Given the description of an element on the screen output the (x, y) to click on. 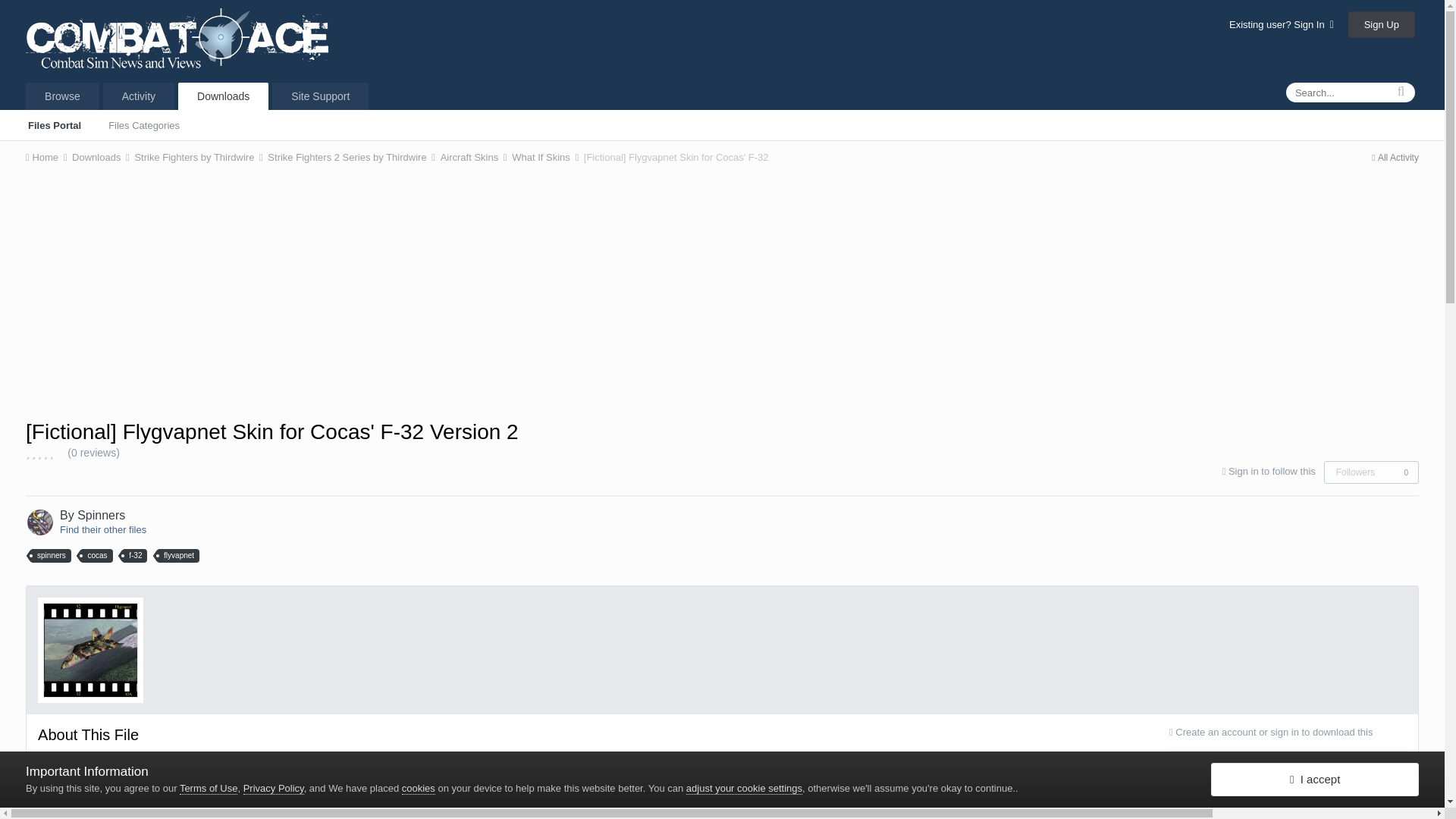
Advertisement (721, 290)
Browse (62, 95)
Go to Spinners's profile (39, 522)
Site Support (320, 95)
Existing user? Sign In   (1280, 24)
Downloads (222, 95)
Home (47, 156)
All Activity (1394, 157)
Get support for this download (1287, 778)
Activity (138, 95)
Downloads (101, 156)
Find other content tagged with 'cocas' (96, 555)
Go to Spinners's profile (101, 514)
Find other content tagged with 'f-32' (135, 555)
Sign Up (1381, 24)
